Given the description of an element on the screen output the (x, y) to click on. 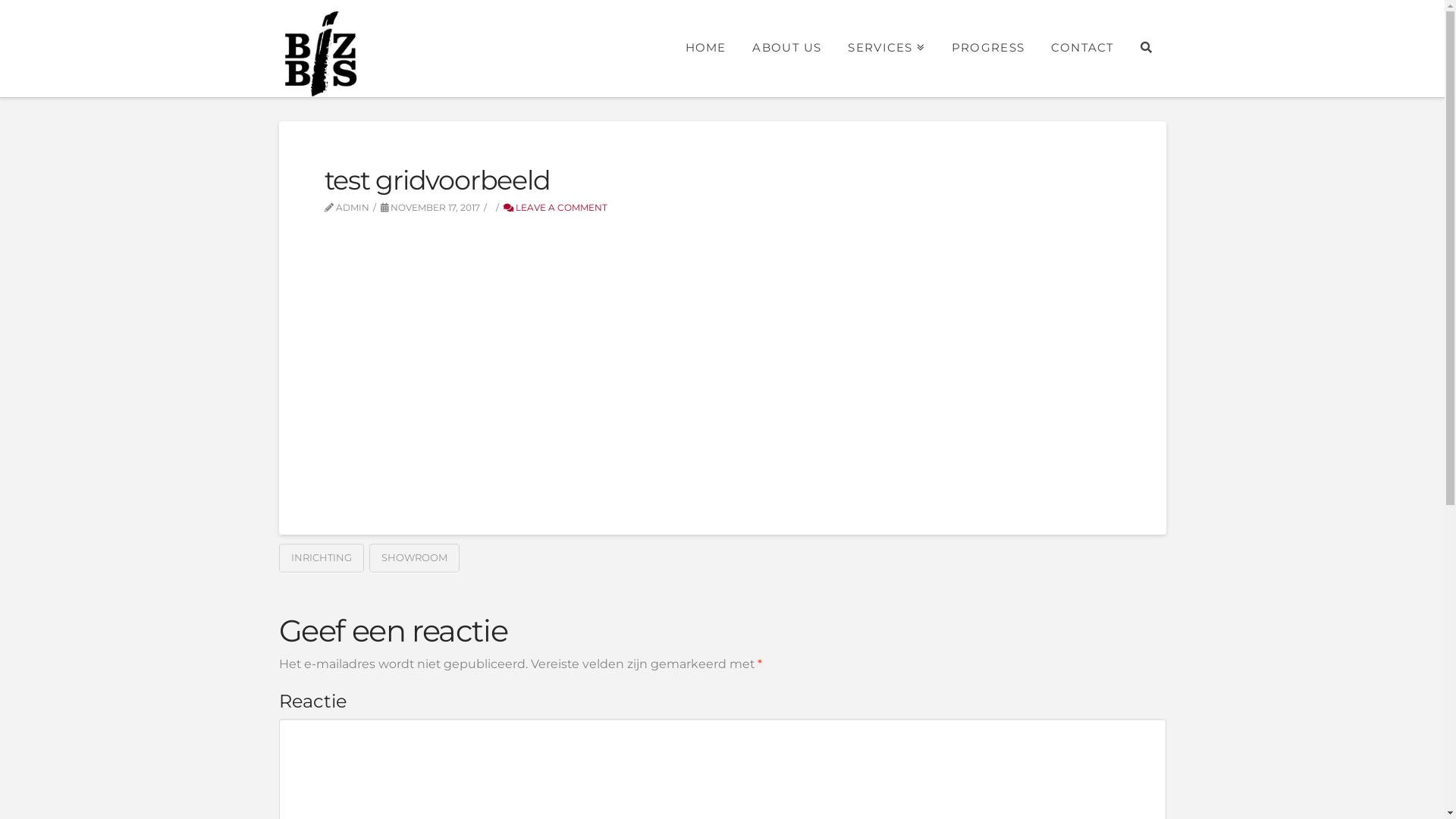
1 Element type: hover (508, 288)
6 Element type: hover (583, 412)
7 Element type: hover (756, 412)
INRICHTING Element type: text (321, 557)
CONTACT Element type: text (1082, 45)
SERVICES Element type: text (885, 45)
3 Element type: hover (952, 288)
HOME Element type: text (705, 45)
4 Element type: hover (1079, 288)
LEAVE A COMMENT Element type: text (555, 207)
2 Element type: hover (779, 288)
SHOWROOM Element type: text (414, 557)
ABOUT US Element type: text (786, 45)
PROGRESS Element type: text (987, 45)
5 Element type: hover (410, 412)
